Given the description of an element on the screen output the (x, y) to click on. 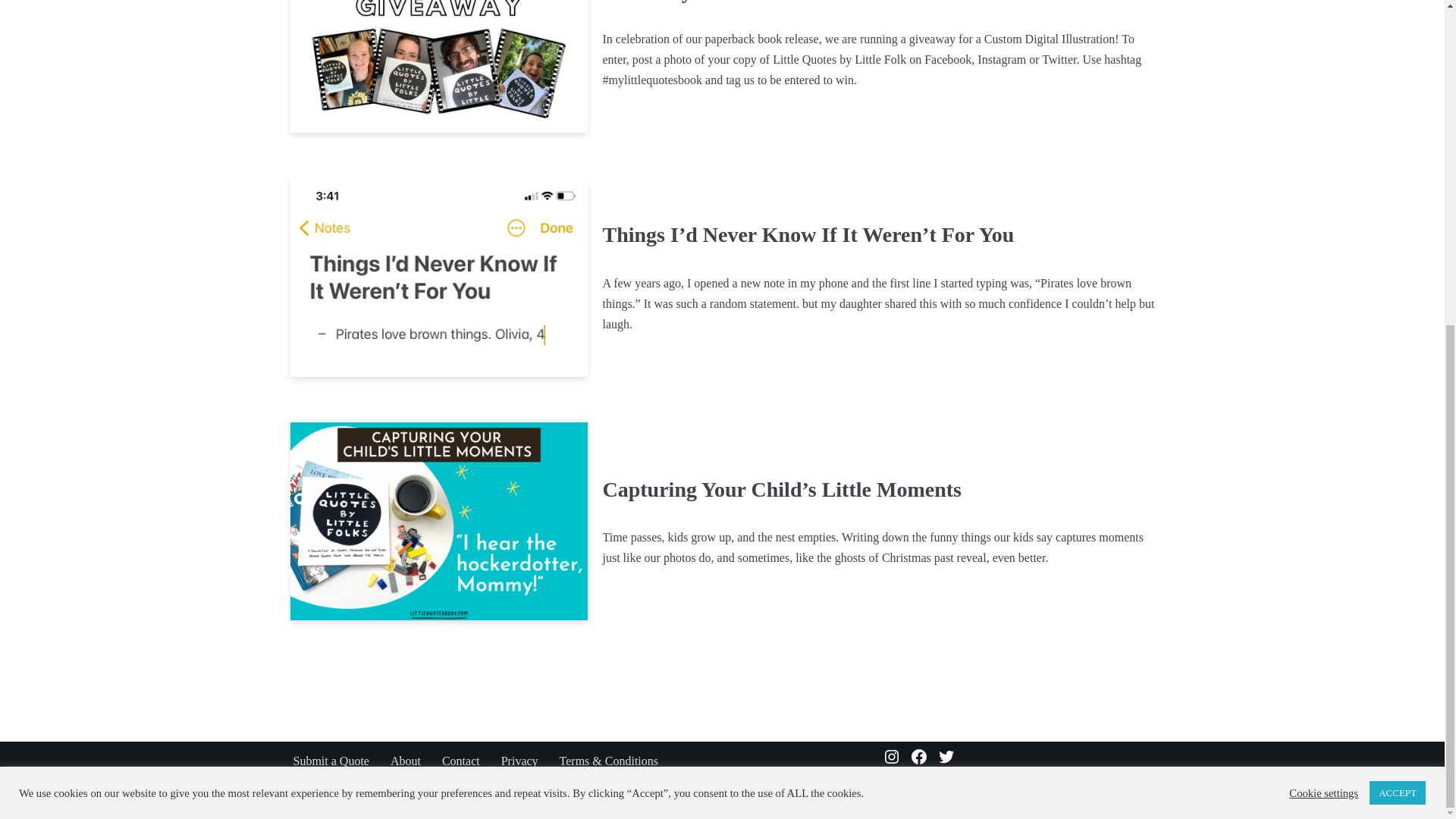
Privacy (519, 761)
Contact (461, 761)
WordPress (410, 799)
Submit a Quote (330, 761)
Giveaway: Post a Photo of Your Book! (437, 65)
Neve (302, 799)
About (405, 761)
